Given the description of an element on the screen output the (x, y) to click on. 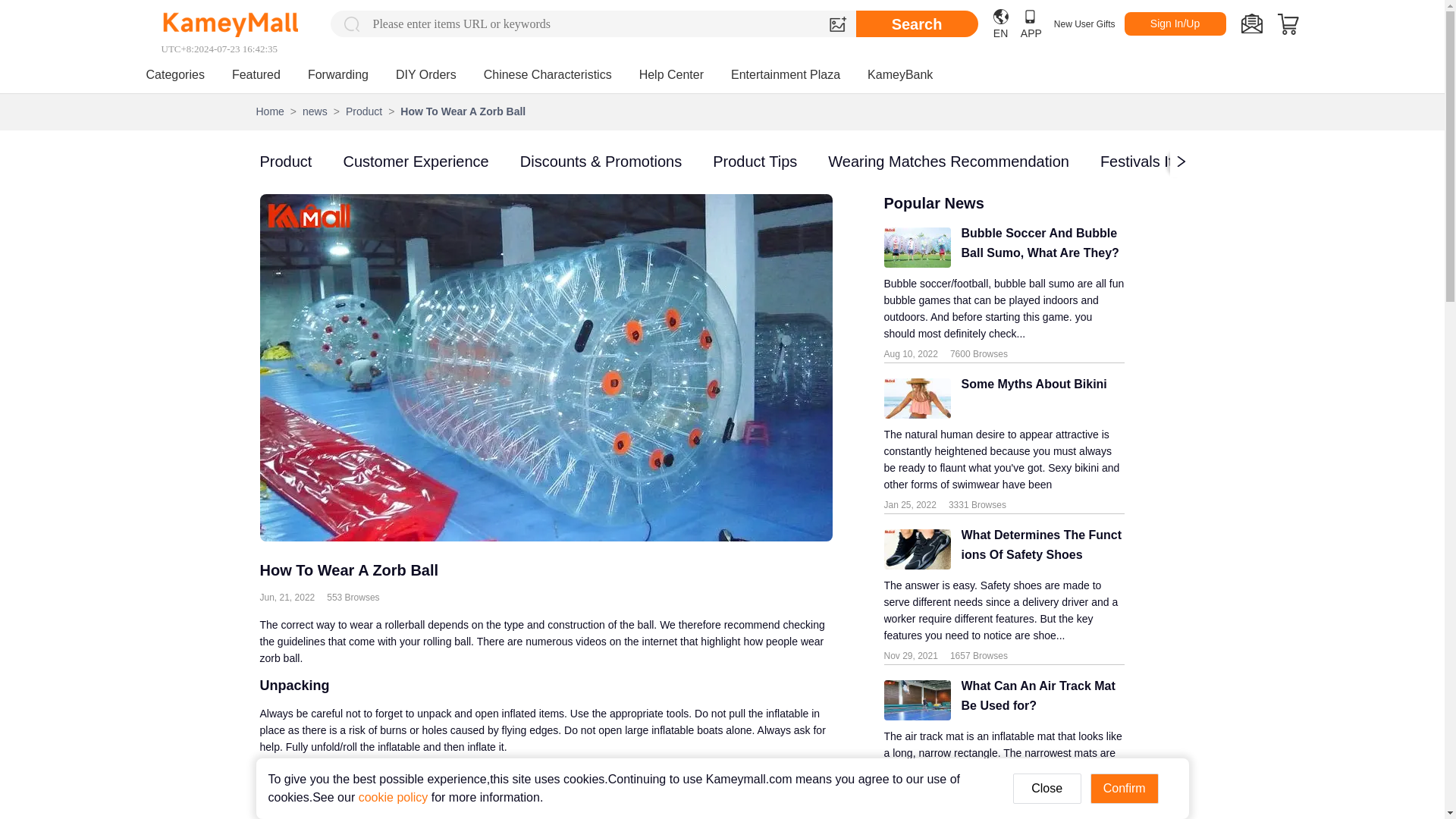
Product (285, 161)
Festivals Items Special Topics (1200, 161)
What Determines The Functions Of Safety Shoes (1037, 549)
Entertainment Plaza (785, 74)
zorb ball (583, 807)
Help Center (671, 74)
Chinese Characteristics (547, 74)
Customer Experience (414, 161)
What Can An Air Track Mat Be Used for? (1037, 699)
DIY Orders (426, 74)
Product Tips (754, 161)
Home (269, 111)
Created with Pixso. (1251, 23)
Wearing Matches Recommendation (948, 161)
Some Myths About Bikini (1028, 397)
